Given the description of an element on the screen output the (x, y) to click on. 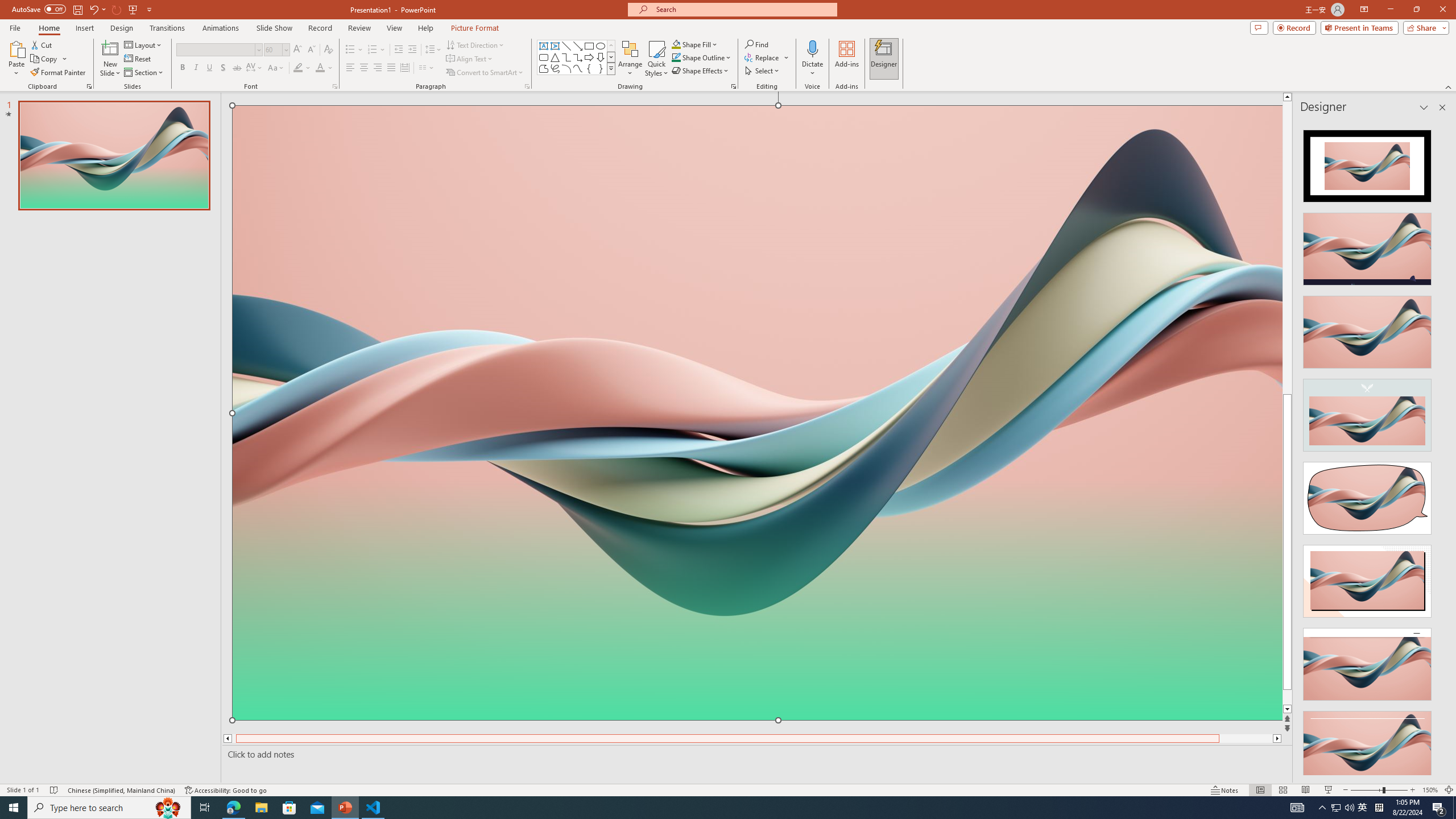
Picture Format (475, 28)
